Given the description of an element on the screen output the (x, y) to click on. 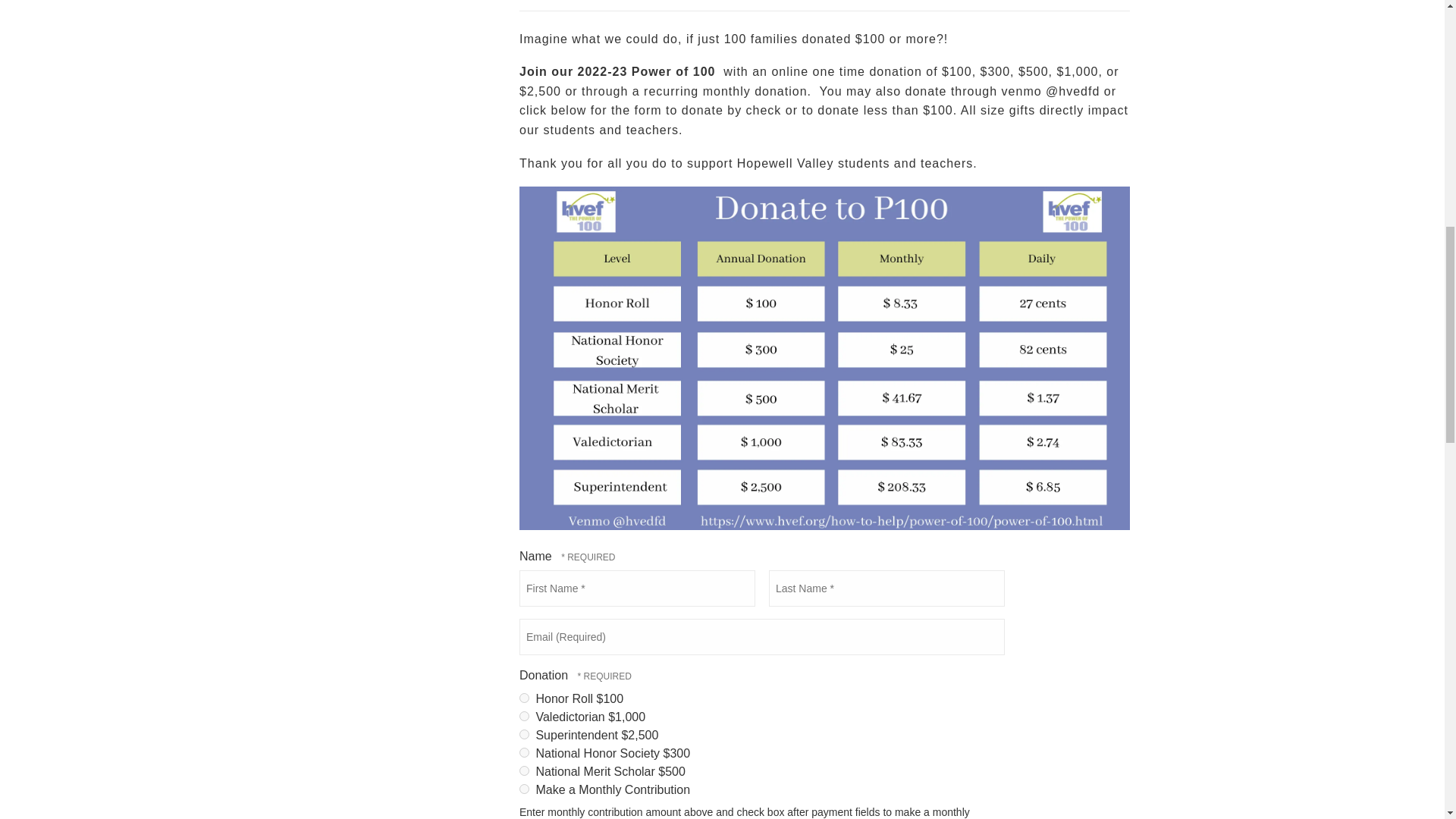
1000 (524, 716)
500 (524, 770)
100 (524, 697)
300 (524, 752)
2500 (524, 734)
